Given the description of an element on the screen output the (x, y) to click on. 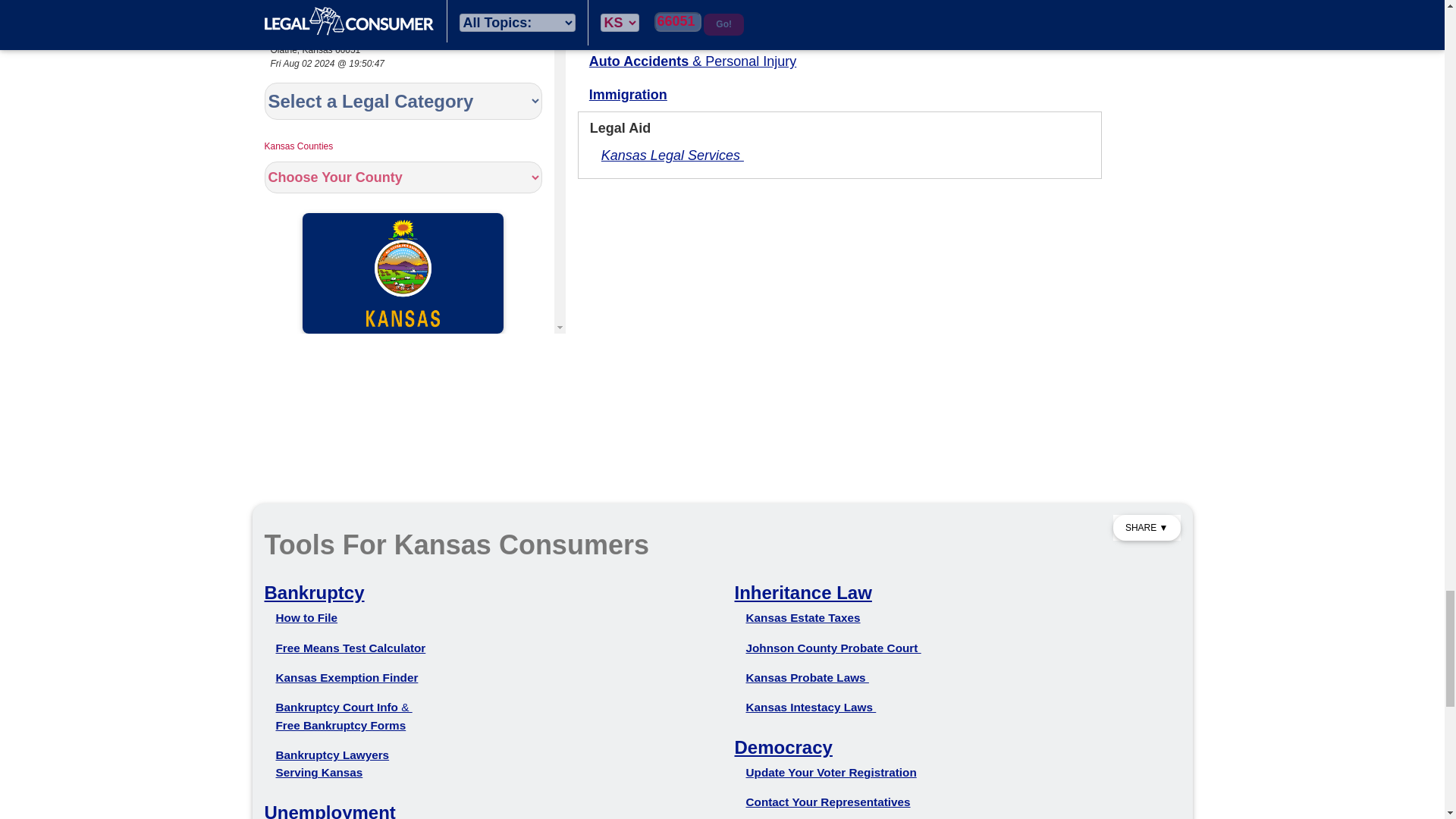
Bankruptcy Means Test for Johnson County (351, 647)
Bankruptcy Lawyers serving Johnson County, Kansas (333, 763)
Kansas Bankruptcy Exemptions (347, 676)
Johnson County, Kansas Bankruptcy Guide (313, 592)
Johnson County, Kansas Unemployment Guide (328, 810)
How to File Bankruptcy in Johnson County, Kansas (306, 617)
Choose a social sharing platform (1146, 527)
Free Bankruptcy Forms for Johnson County, Kansas (341, 725)
Johnson County Bankruptcy Court Information (344, 707)
